Given the description of an element on the screen output the (x, y) to click on. 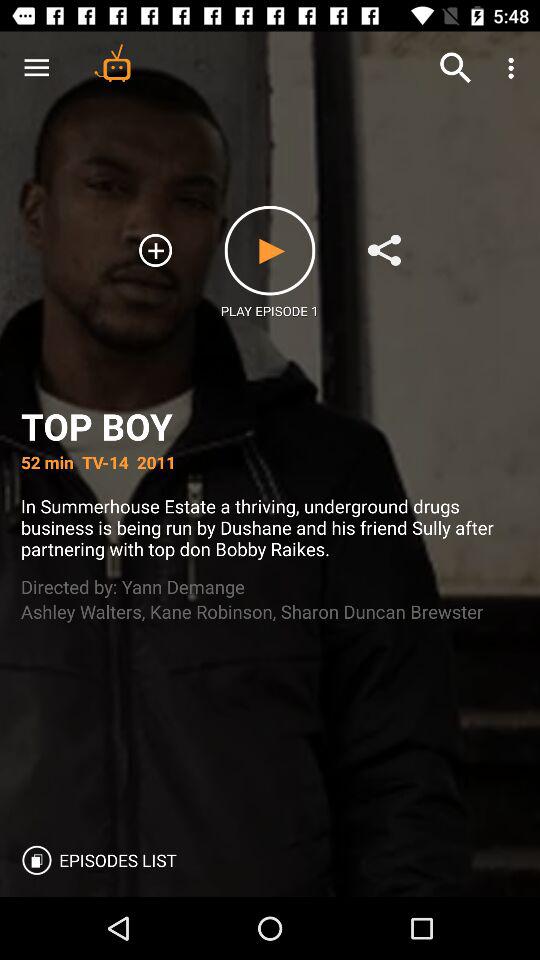
click icon above the top boy item (155, 250)
